Given the description of an element on the screen output the (x, y) to click on. 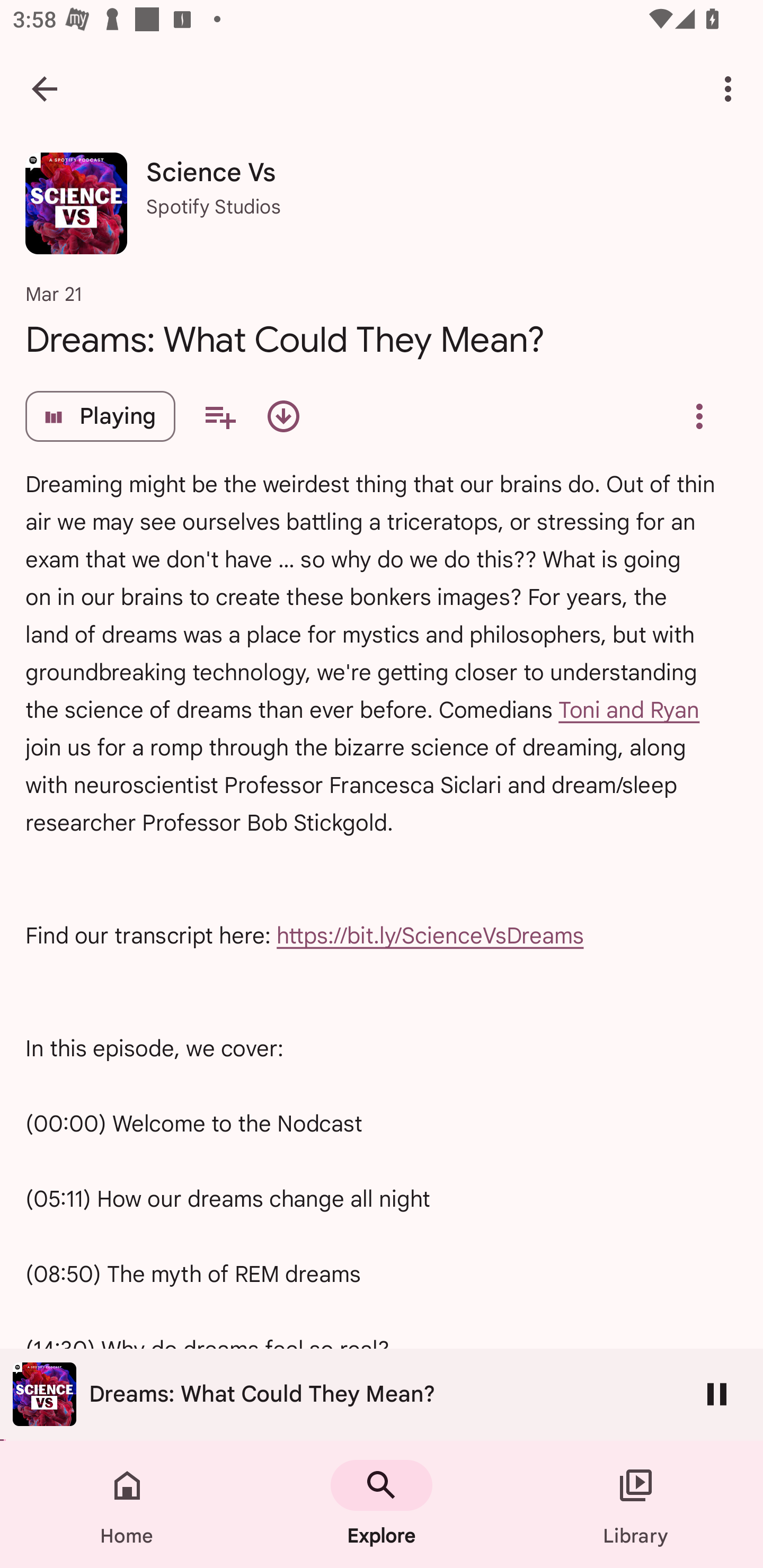
Navigate up (44, 88)
More options (731, 88)
Science Vs Science Vs Spotify Studios (381, 209)
Add to your queue (219, 415)
Download episode (283, 415)
Overflow menu (699, 415)
Pause (717, 1394)
Home (127, 1504)
Library (635, 1504)
